Given the description of an element on the screen output the (x, y) to click on. 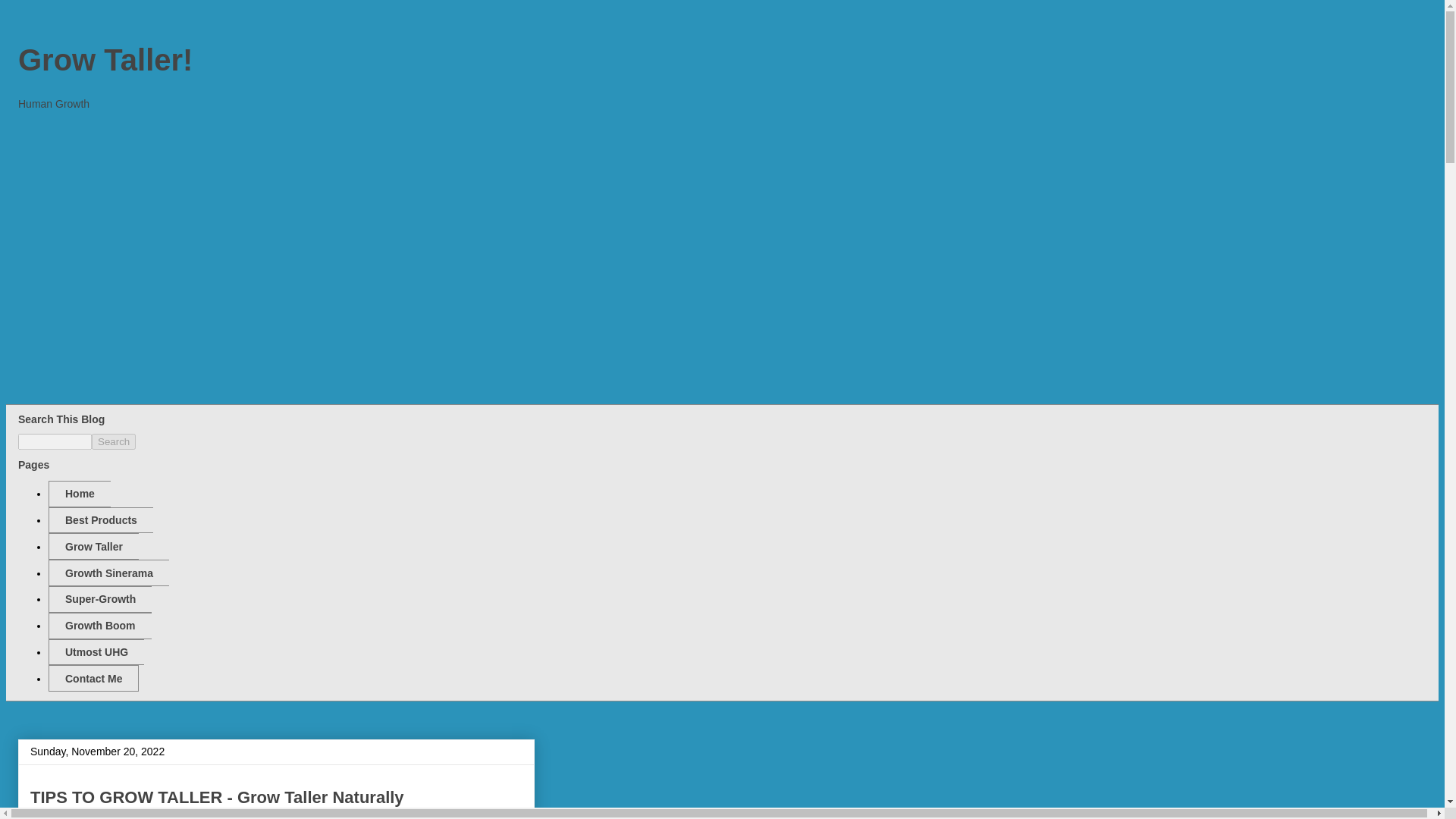
Super-Growth (99, 599)
search (54, 441)
Grow Taller (93, 546)
Growth Sinerama (108, 572)
search (113, 441)
Utmost UHG (96, 652)
Contact Me (93, 678)
Search (113, 441)
Search (113, 441)
Growth Boom (99, 625)
Best Products (100, 519)
Home (79, 493)
Grow Taller! (104, 59)
Search (113, 441)
